Given the description of an element on the screen output the (x, y) to click on. 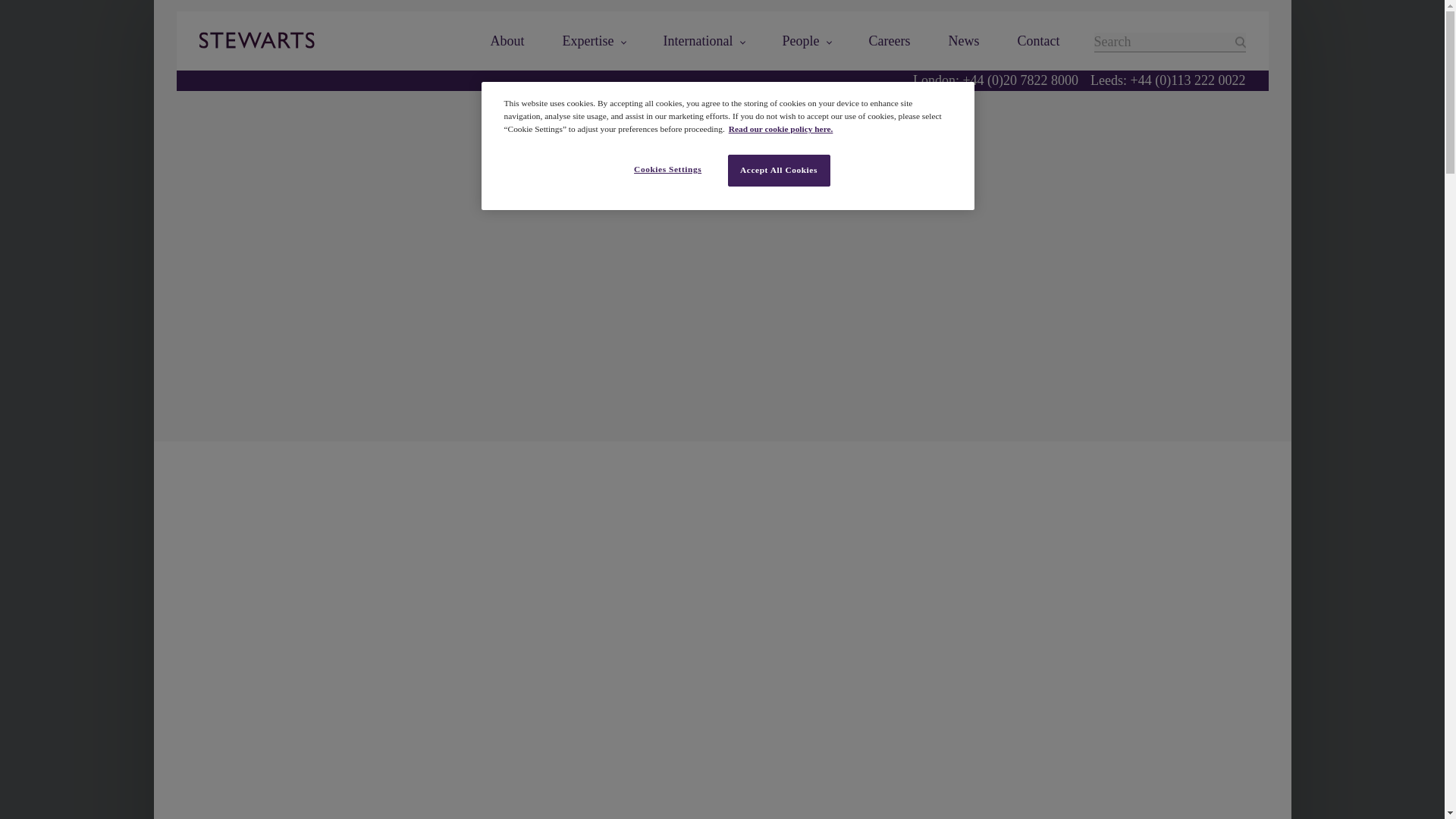
About (507, 41)
People (806, 41)
Careers (890, 41)
International (703, 41)
News (964, 41)
Expertise (594, 41)
